Given the description of an element on the screen output the (x, y) to click on. 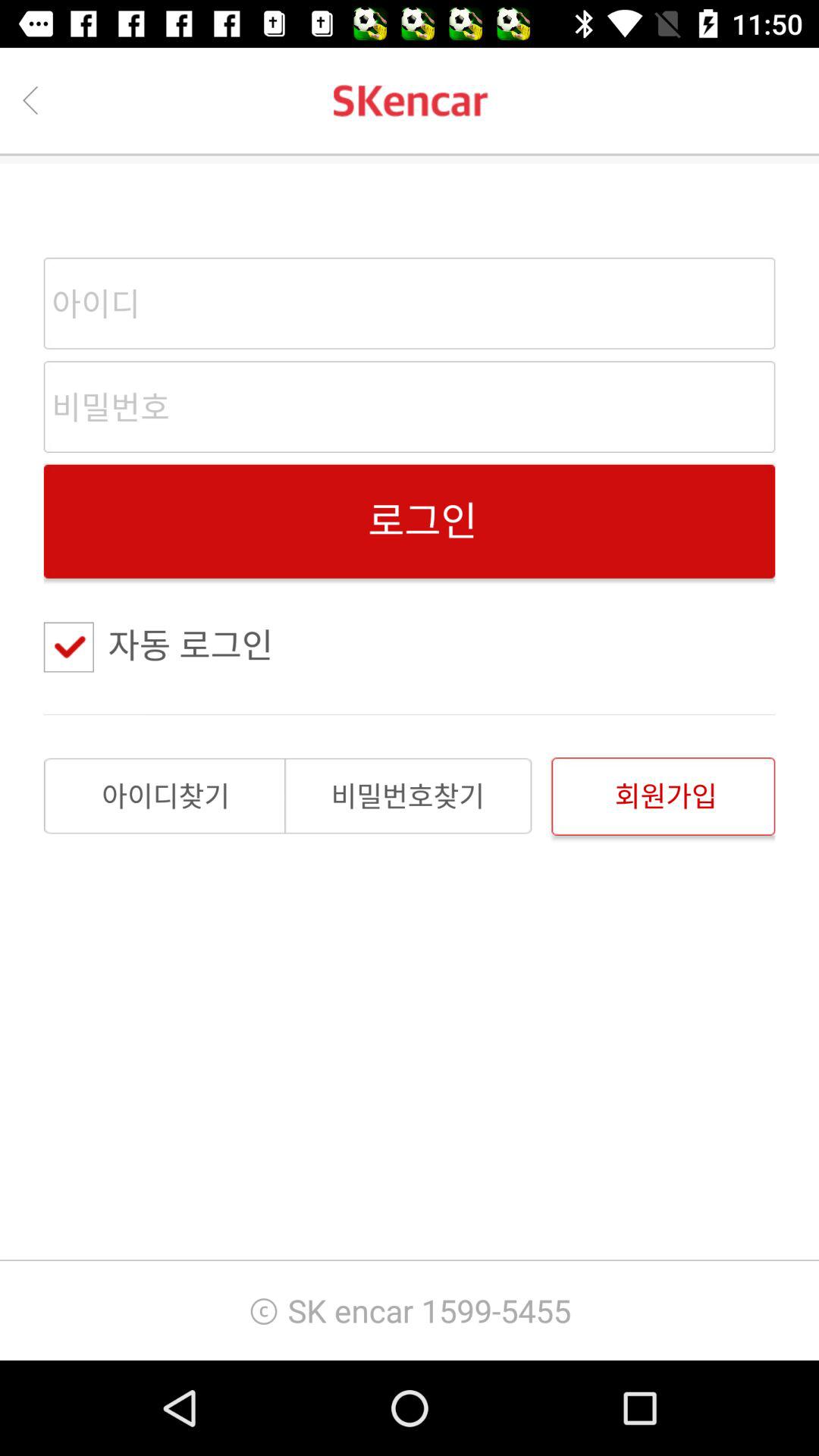
select the icon above sk encar 1599 (663, 796)
